Given the description of an element on the screen output the (x, y) to click on. 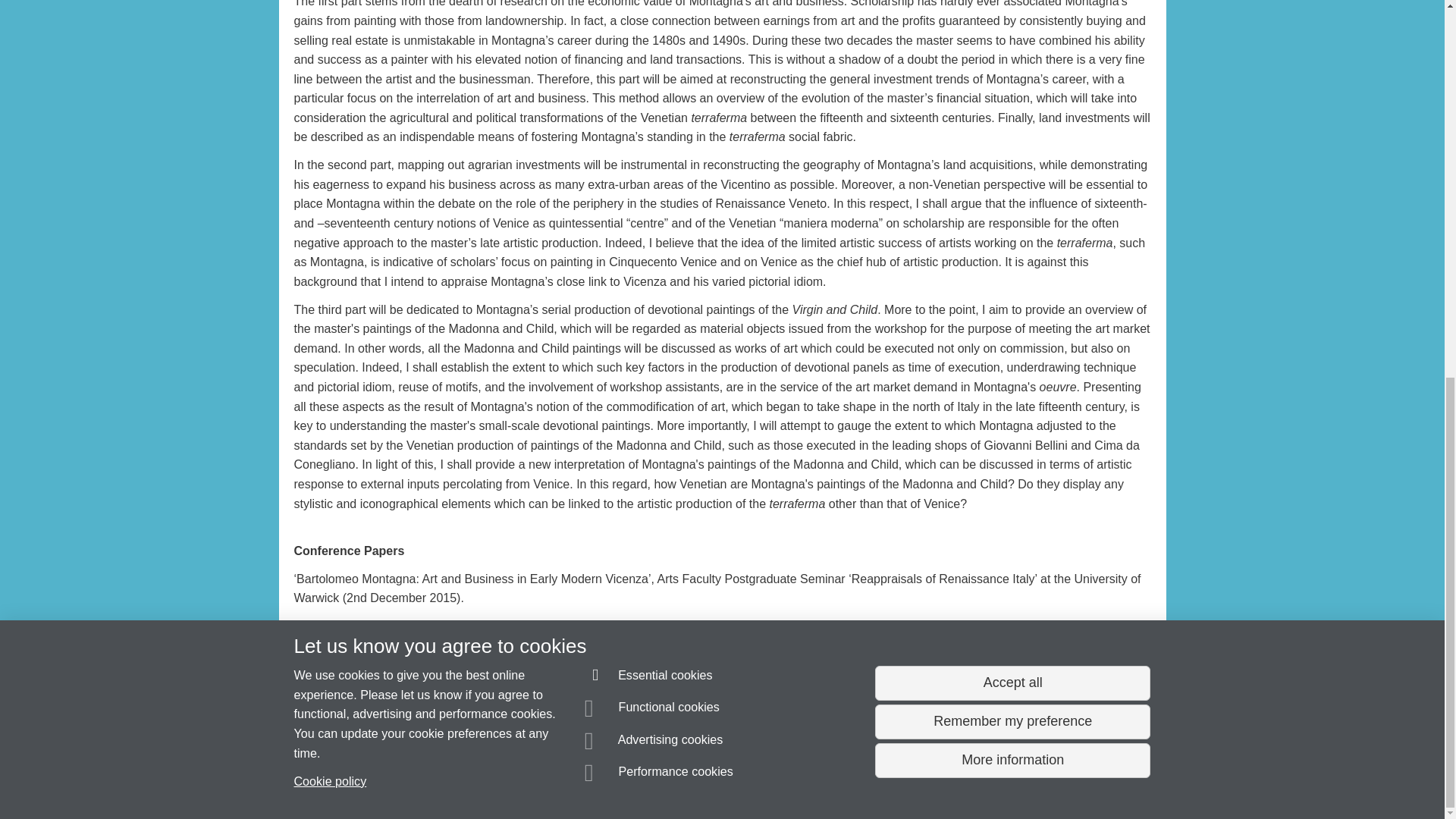
Privacy notice (673, 780)
Terms of use (708, 780)
Copyright Statement (514, 780)
Send an email to Claire Nicholls (380, 751)
Information about cookies (467, 780)
More information about SiteBuilder (365, 780)
